Given the description of an element on the screen output the (x, y) to click on. 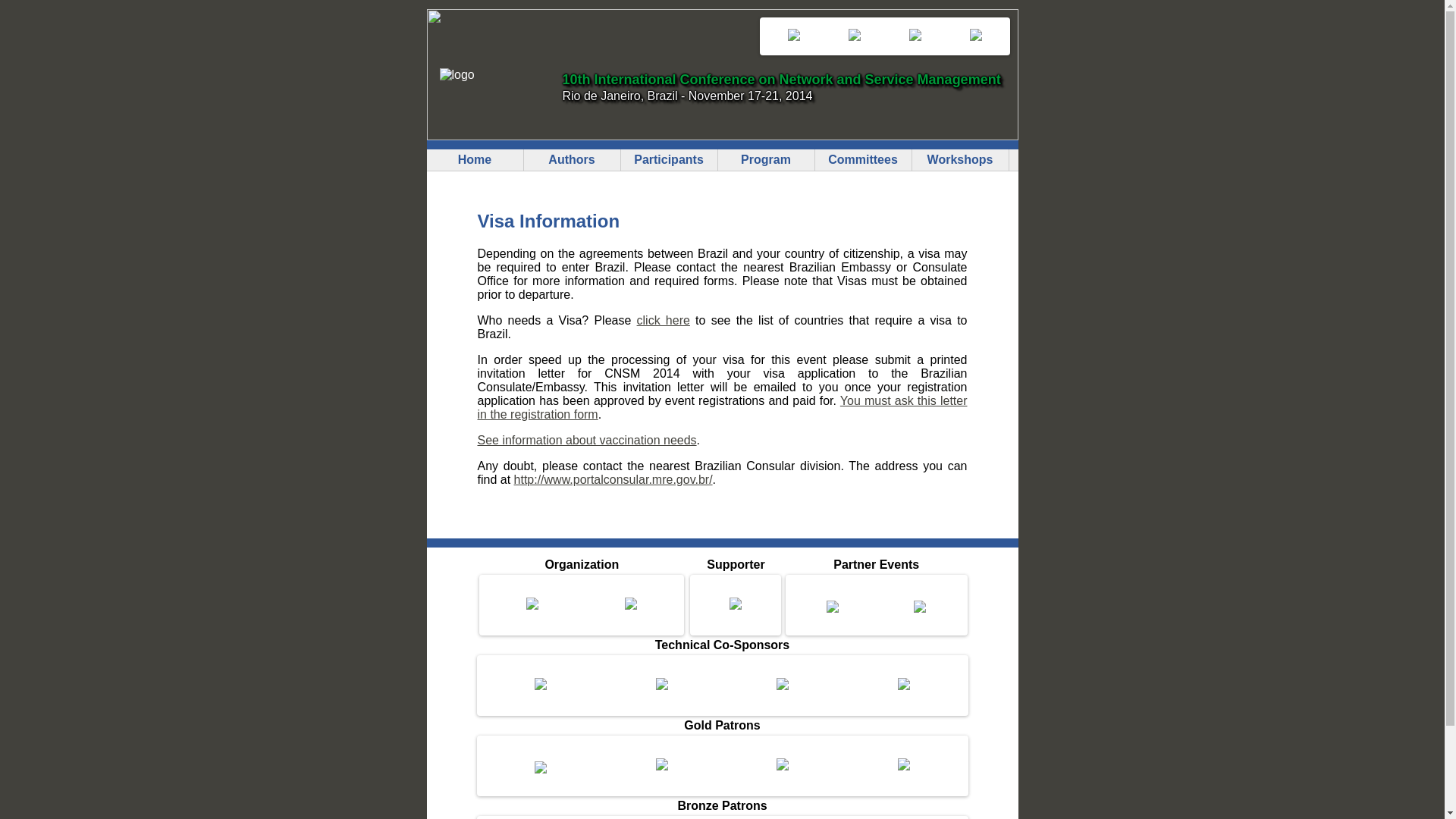
Authors (571, 159)
Program (765, 159)
Committees (862, 159)
You must ask this letter in the registration form (722, 406)
Workshops (960, 159)
Participants (668, 159)
Home (474, 159)
click here (663, 319)
See information about vaccination needs (587, 440)
